Given the description of an element on the screen output the (x, y) to click on. 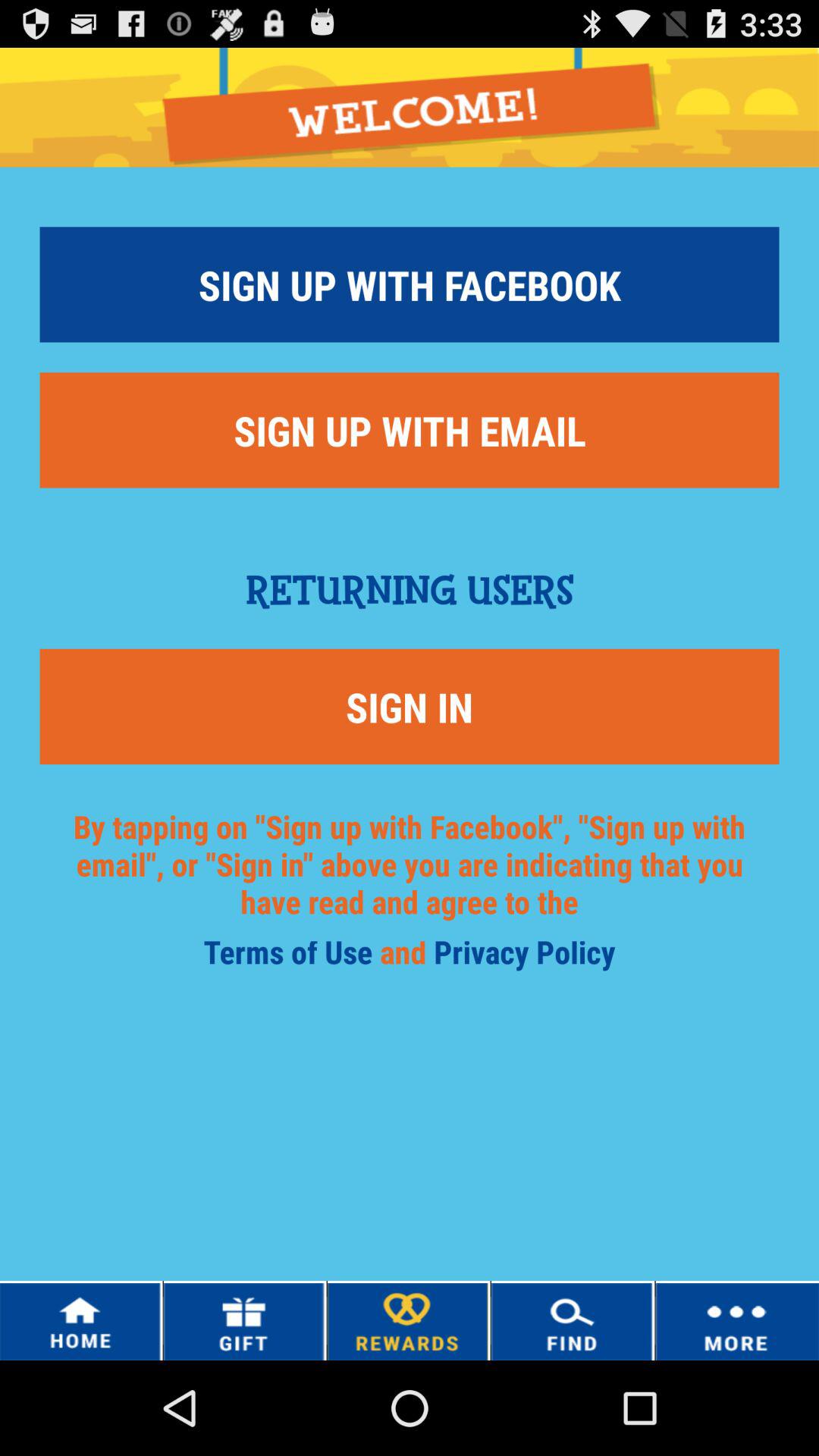
swipe to by tapping on item (409, 882)
